Given the description of an element on the screen output the (x, y) to click on. 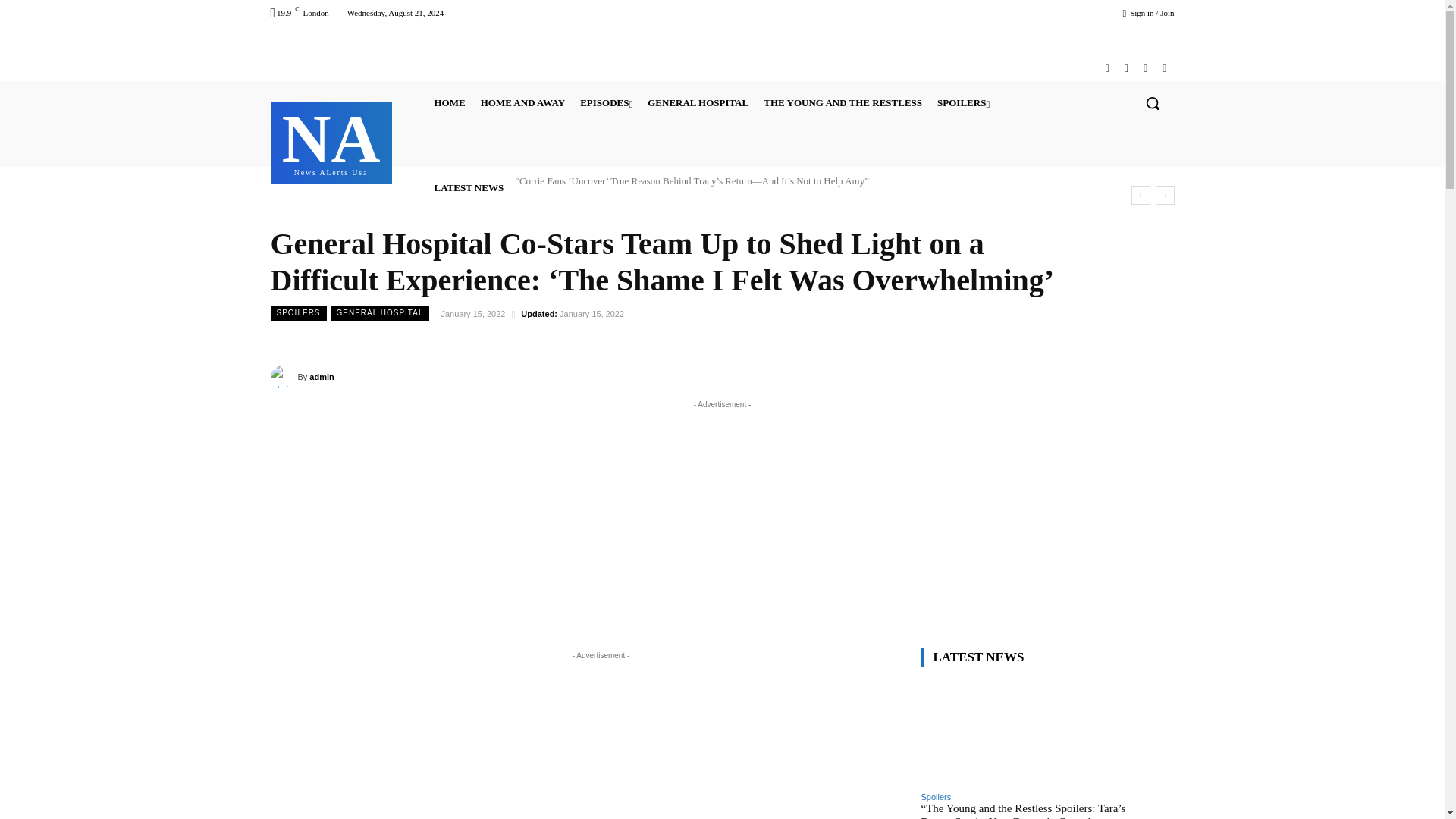
HOME AND AWAY (522, 102)
GENERAL HOSPITAL (331, 140)
EPISODES (698, 102)
SPOILERS (606, 102)
HOME (963, 102)
Facebook (449, 102)
THE YOUNG AND THE RESTLESS (1106, 67)
